Given the description of an element on the screen output the (x, y) to click on. 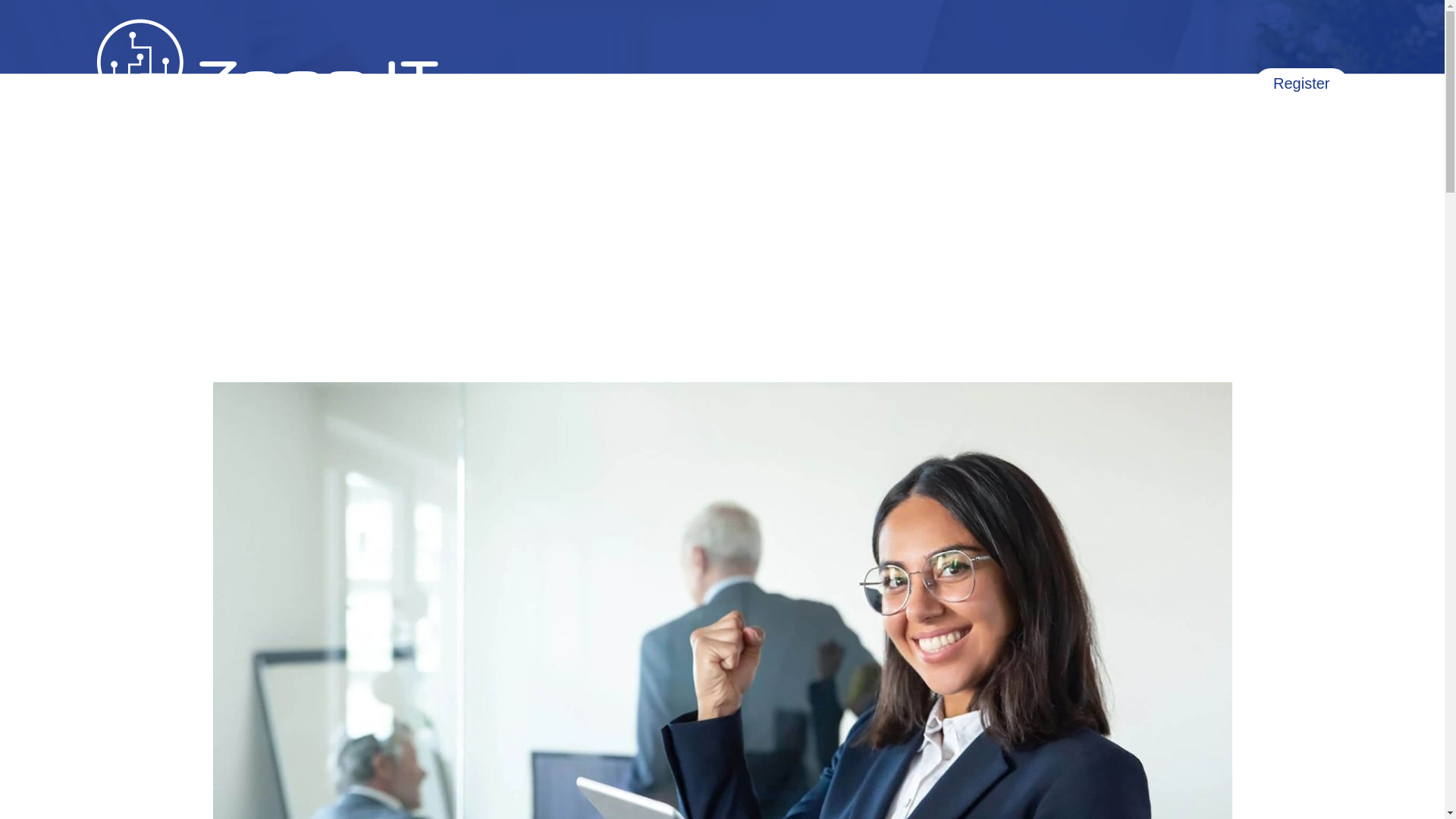
Blogs (1148, 83)
Contact (1214, 83)
Services (1005, 83)
Register (1301, 83)
About (1082, 83)
Candidates (909, 83)
